Given the description of an element on the screen output the (x, y) to click on. 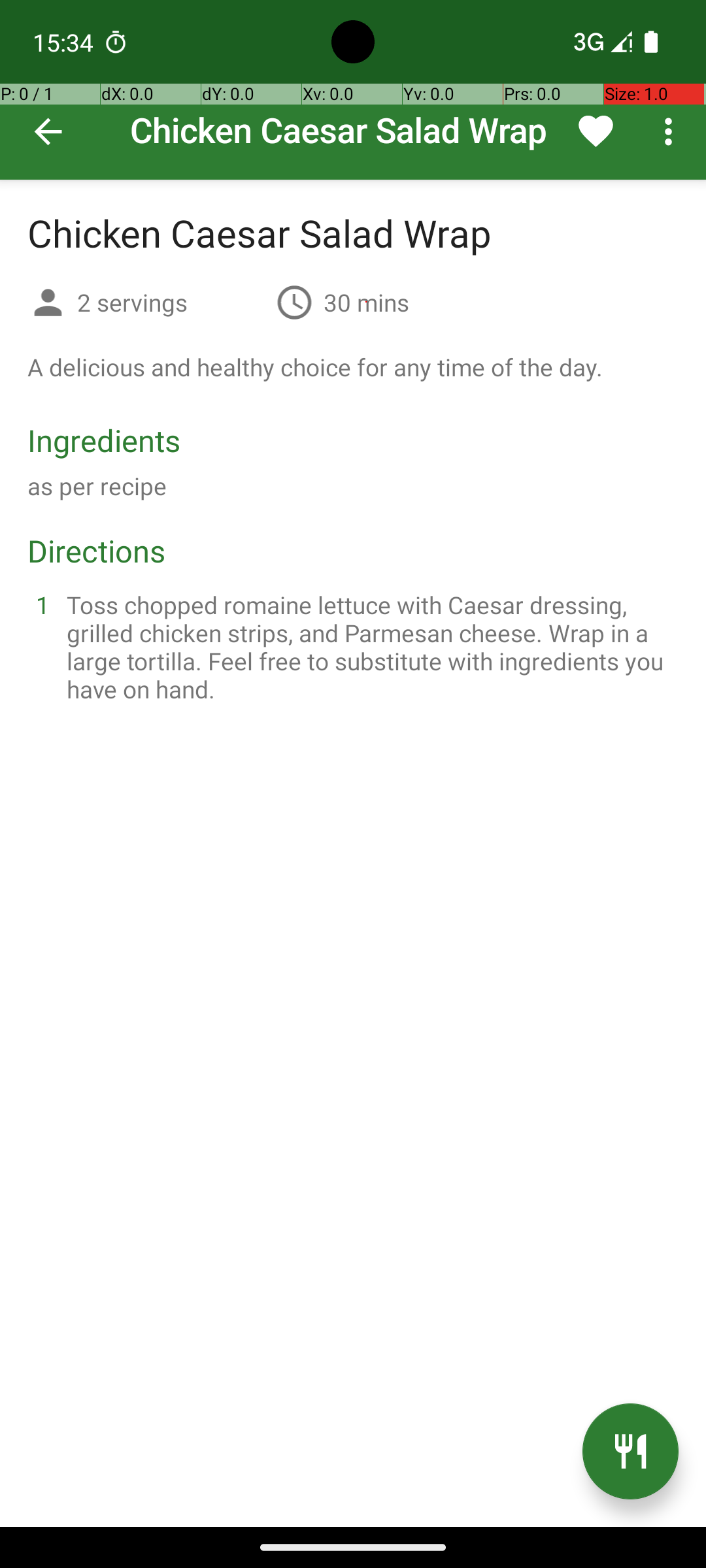
Toss chopped romaine lettuce with Caesar dressing, grilled chicken strips, and Parmesan cheese. Wrap in a large tortilla. Feel free to substitute with ingredients you have on hand. Element type: android.widget.TextView (368, 646)
